Given the description of an element on the screen output the (x, y) to click on. 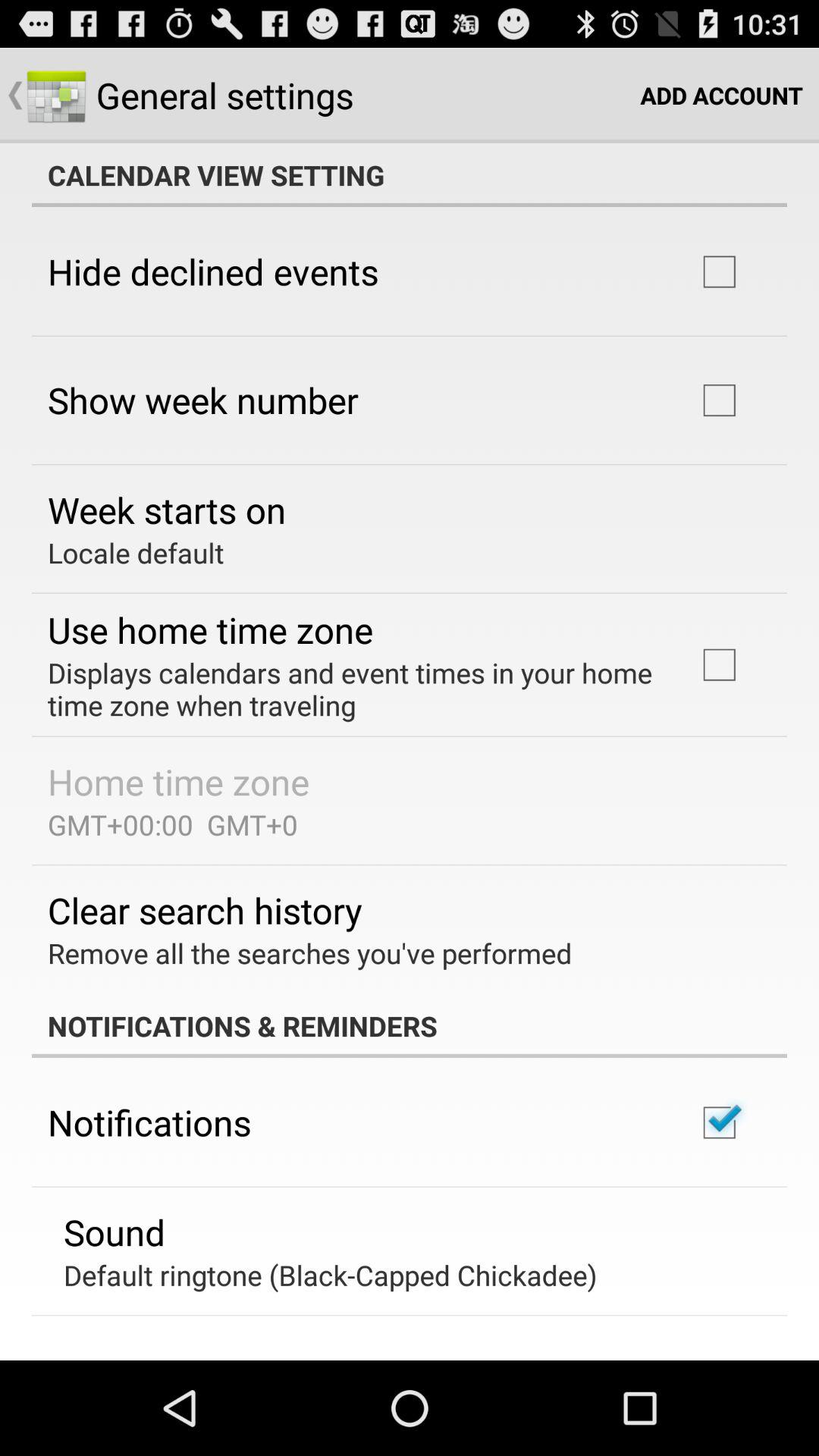
click app above locale default icon (166, 509)
